Given the description of an element on the screen output the (x, y) to click on. 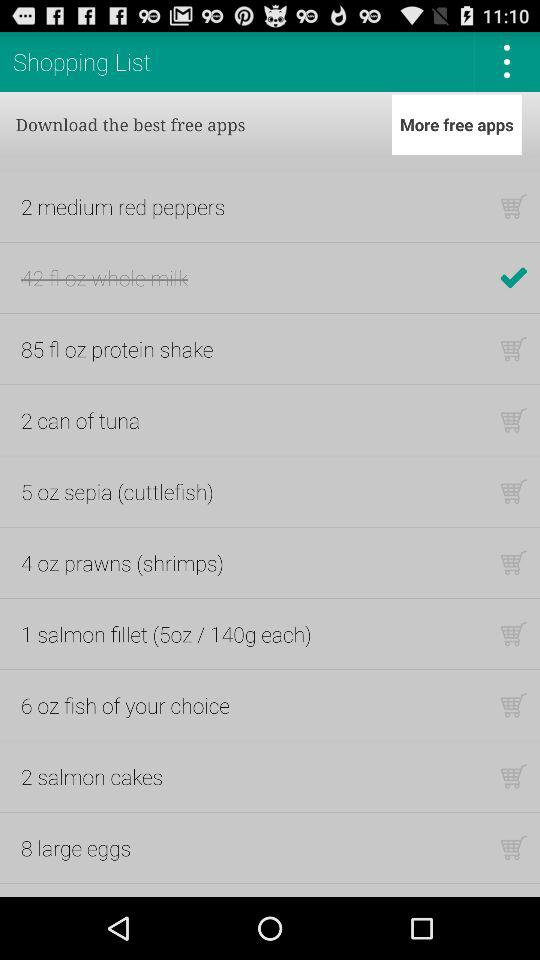
click icon below the 5 oz sepia (122, 562)
